Given the description of an element on the screen output the (x, y) to click on. 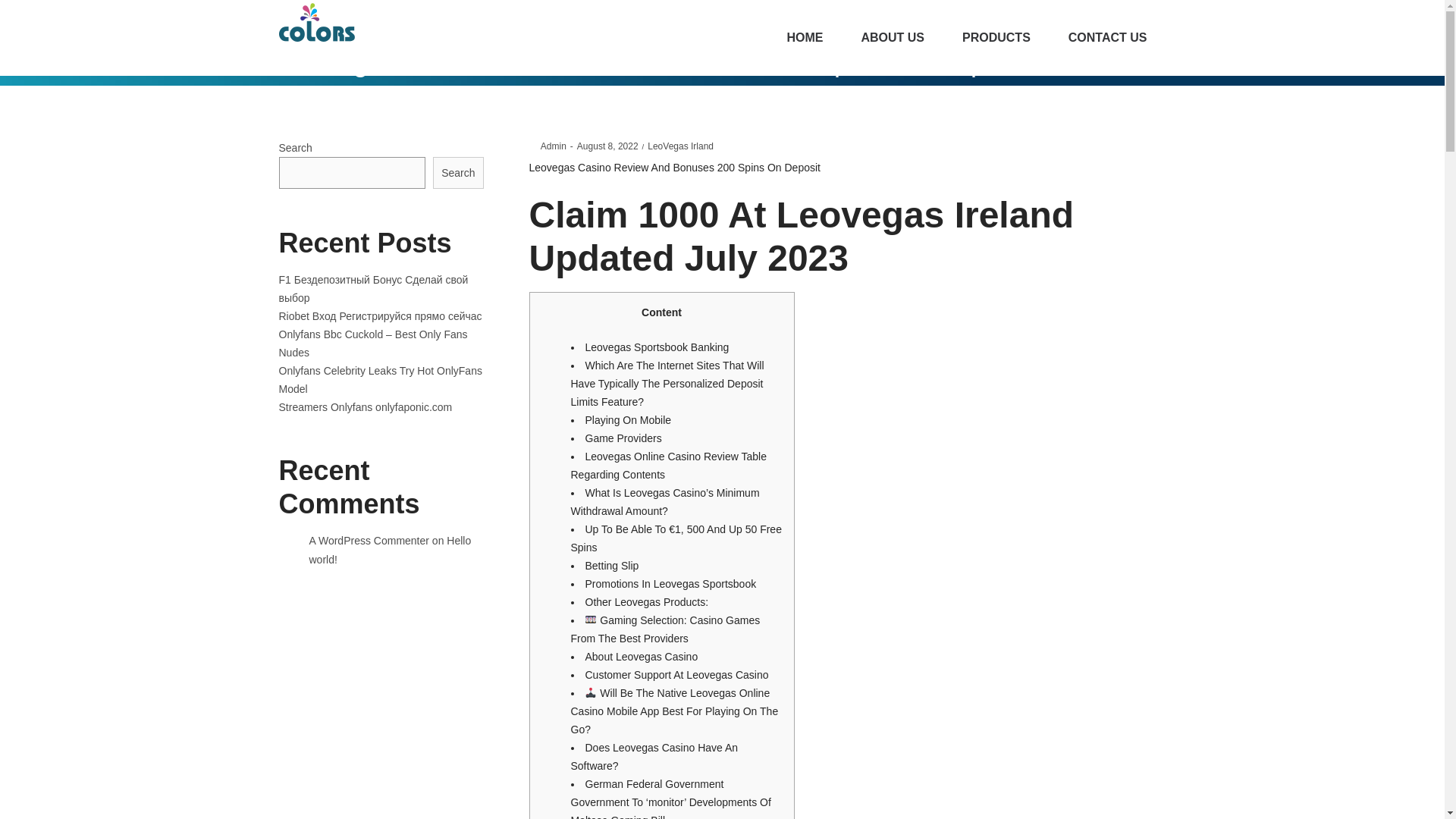
Playing On Mobile (628, 419)
PRODUCTS (996, 37)
Game Providers (623, 438)
Leovegas Sportsbook Banking (657, 346)
Leovegas Online Casino Review Table Regarding Contents (667, 465)
HOME (804, 37)
Gaming Selection: Casino Games From The Best Providers (665, 629)
Other Leovegas Products: (647, 602)
Betting Slip (612, 565)
Colors Tissues And Foils (317, 20)
CONTACT US (607, 145)
ABOUT US (1107, 37)
Promotions In Leovegas Sportsbook (892, 37)
